Given the description of an element on the screen output the (x, y) to click on. 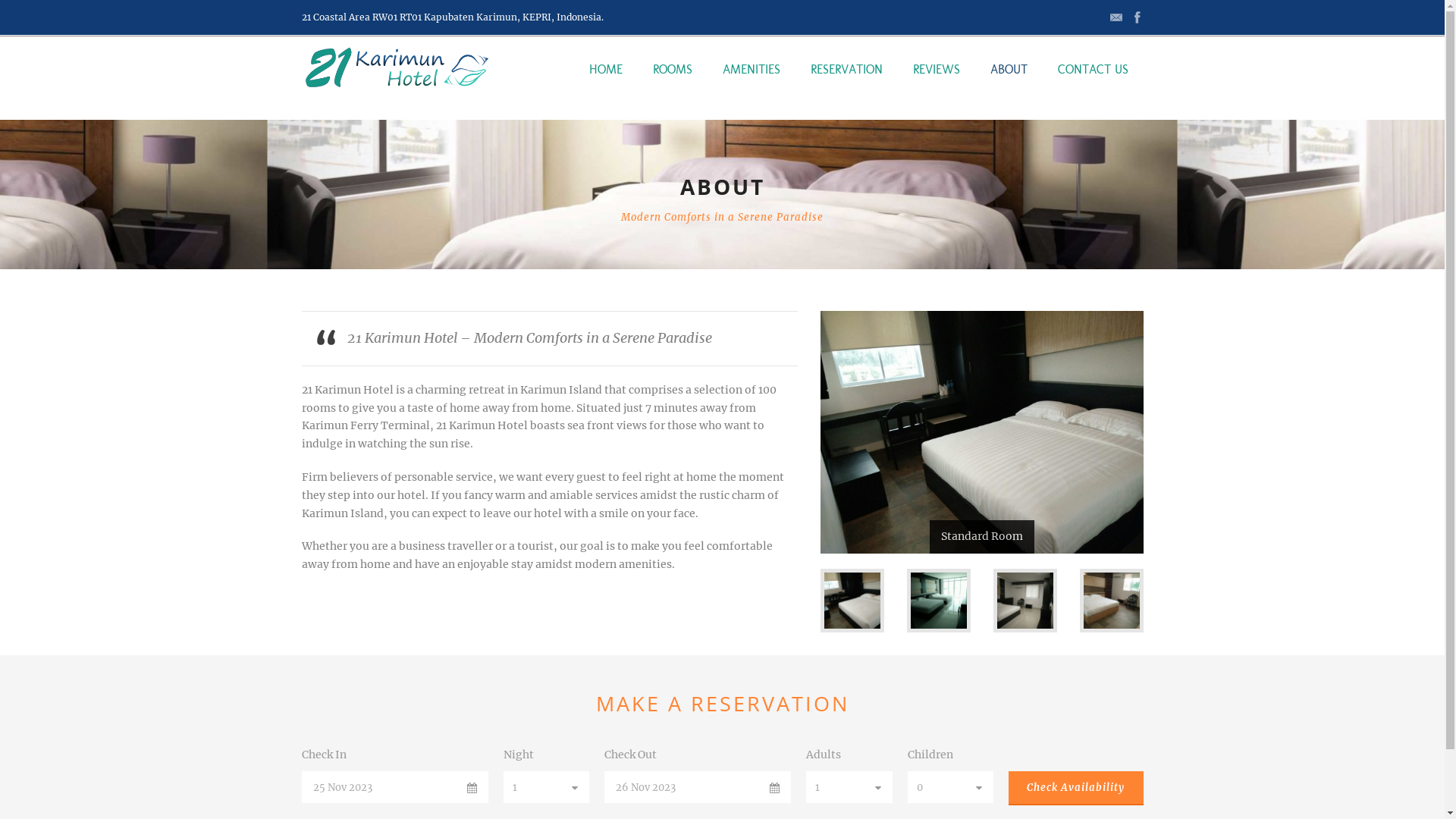
Check Availability Element type: text (1075, 788)
AMENITIES Element type: text (750, 86)
CONTACT US Element type: text (1091, 86)
ROOMS Element type: text (671, 86)
ABOUT Element type: text (1008, 86)
REVIEWS Element type: text (936, 86)
HOME Element type: text (612, 86)
RESERVATION Element type: text (845, 86)
